Given the description of an element on the screen output the (x, y) to click on. 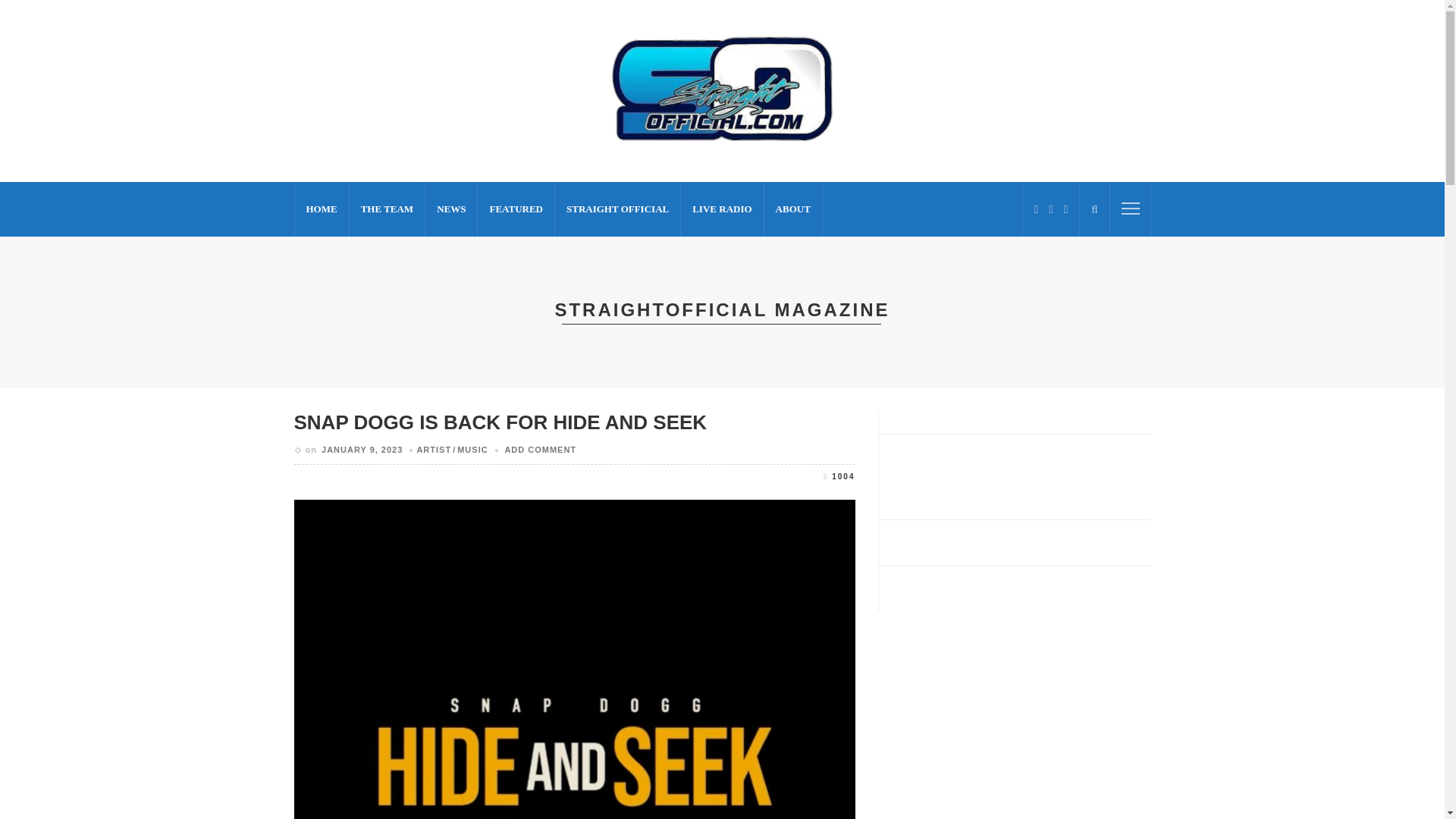
Artist (433, 449)
Music (469, 449)
HOME (321, 208)
Snap Dogg is Back For Hide and Seek (575, 665)
Snap Dogg is Back For Hide and Seek (500, 422)
Straight Official Magazine (722, 90)
Snap Dogg is Back For Hide and Seek (840, 476)
